Given the description of an element on the screen output the (x, y) to click on. 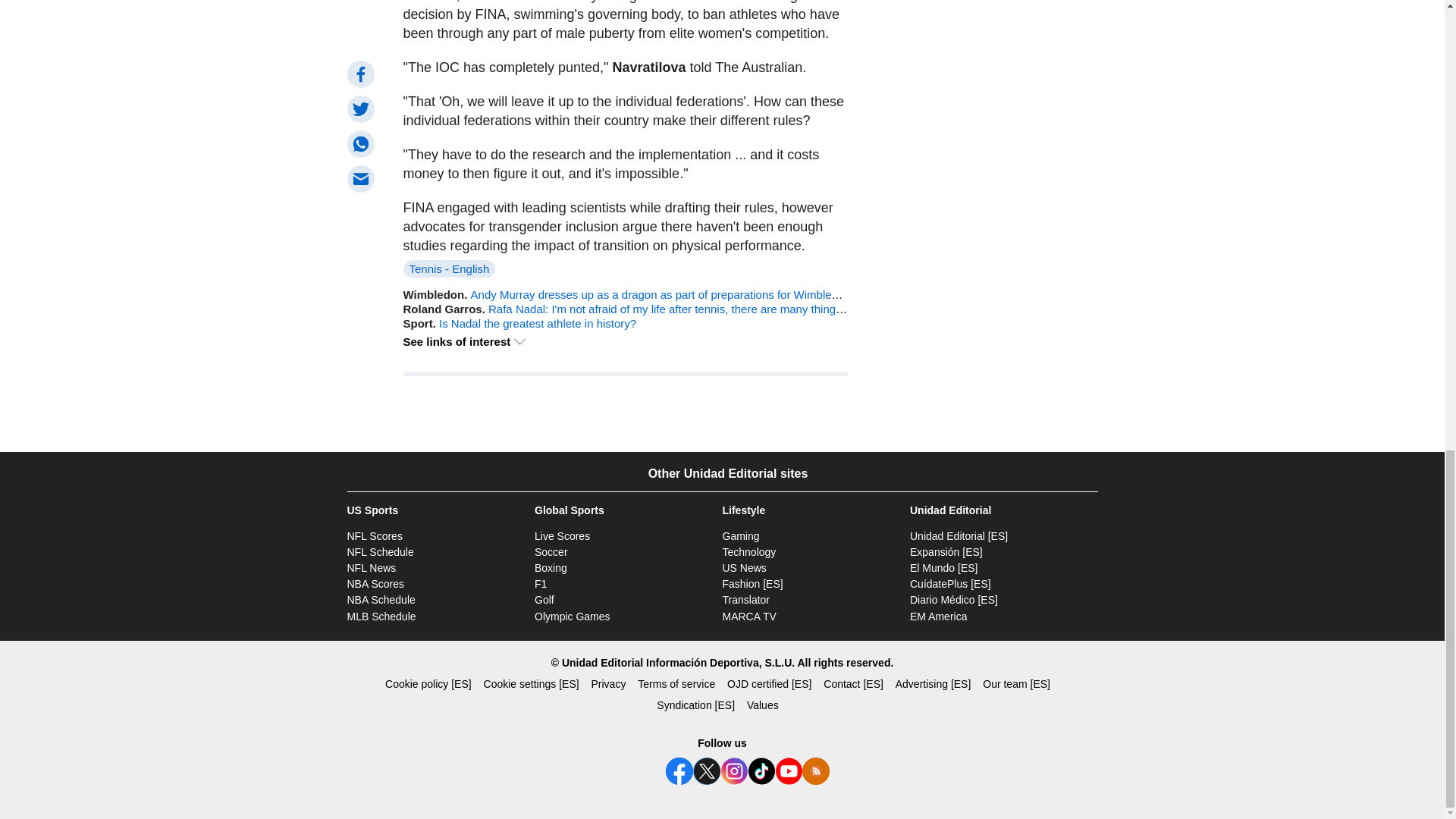
Open in new window (958, 535)
Open in new window (746, 599)
Open in new window (752, 583)
